Given the description of an element on the screen output the (x, y) to click on. 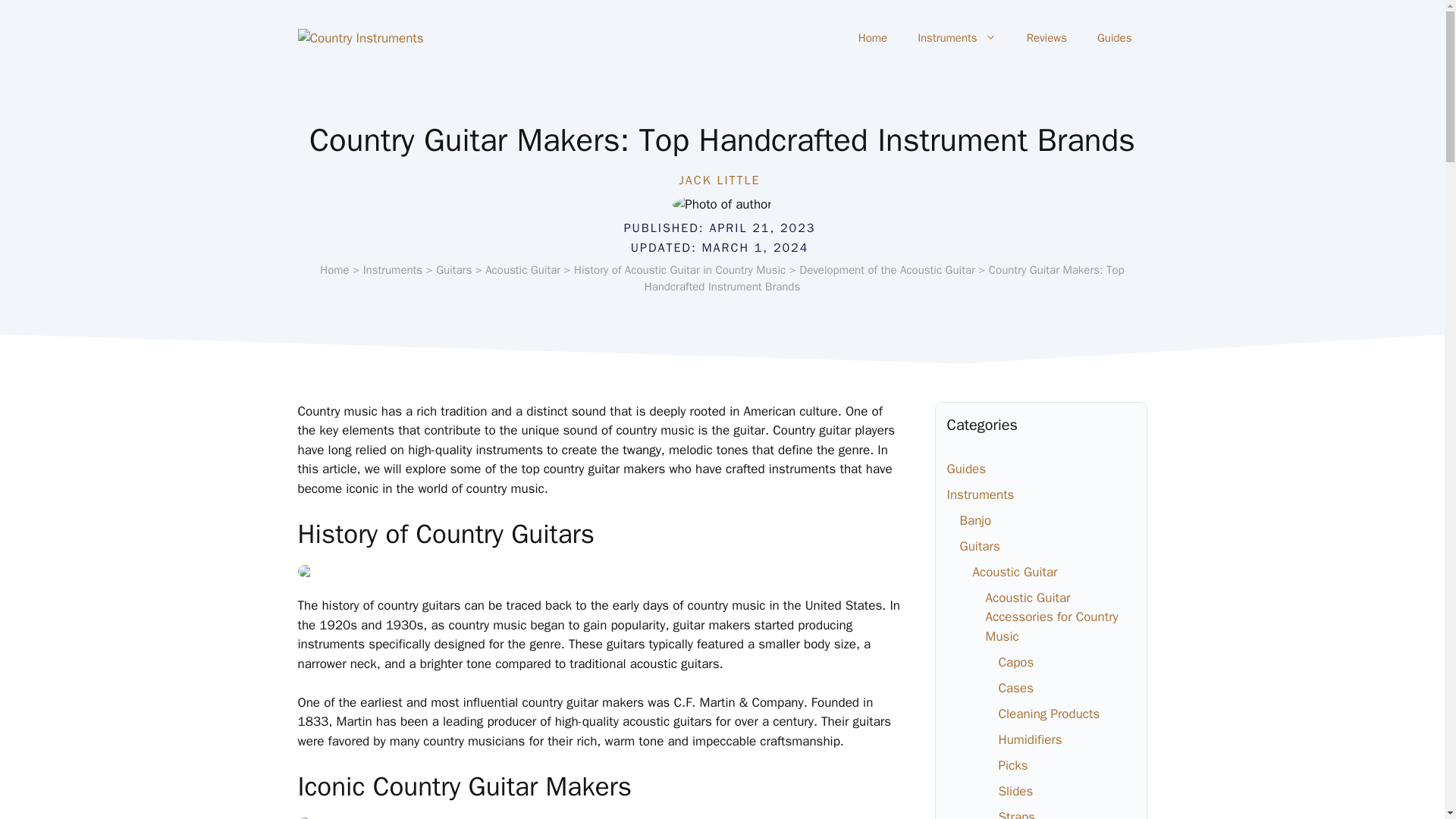
Acoustic Guitar (522, 269)
History of Acoustic Guitar in Country Music (679, 269)
Home (334, 269)
Guides (965, 468)
Go to the Instruments Category archives. (392, 269)
Go to the Guitars Category archives. (453, 269)
Development of the Acoustic Guitar (887, 269)
Go to Country Instruments. (334, 269)
Go to the Acoustic Guitar Category archives. (522, 269)
Guitars (979, 546)
